Given the description of an element on the screen output the (x, y) to click on. 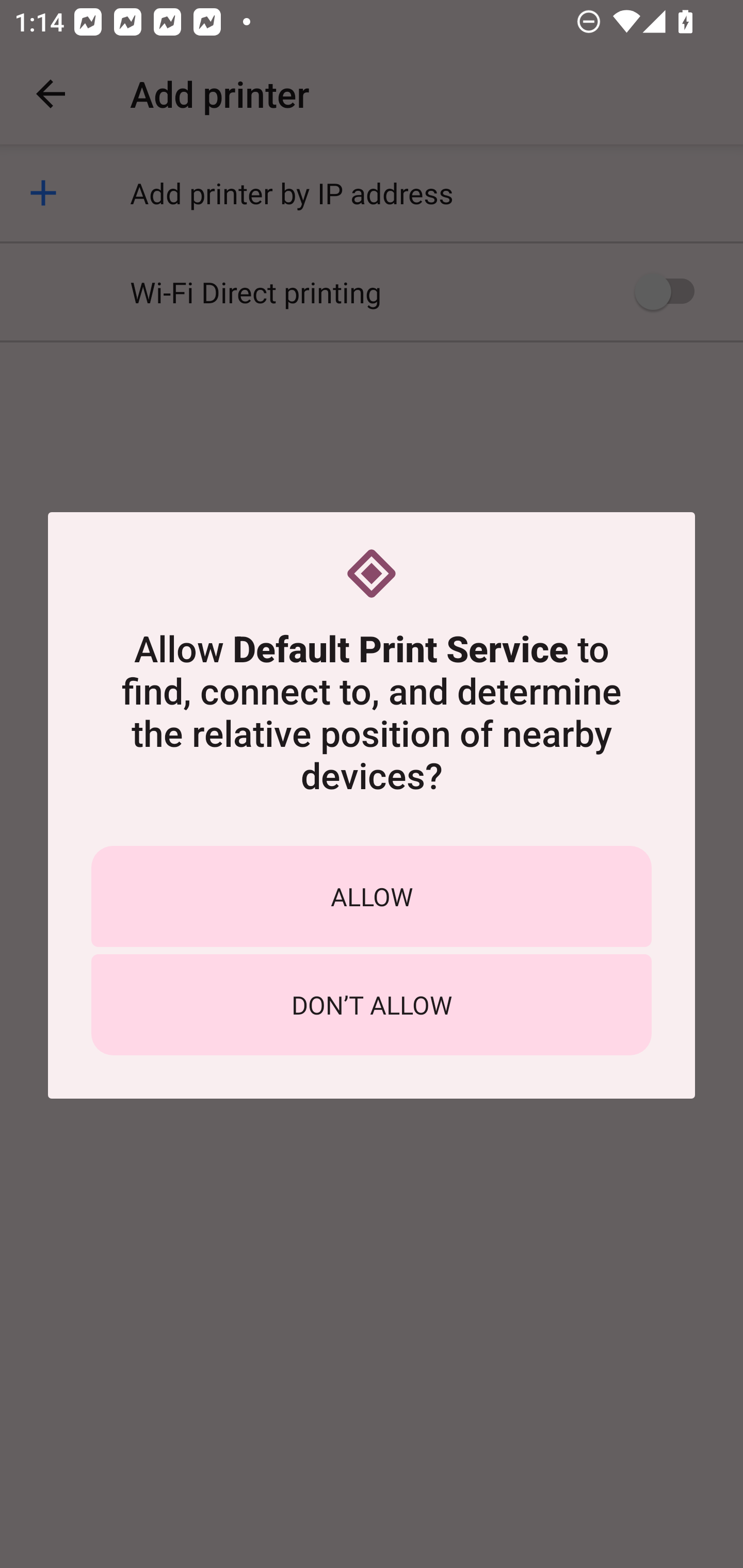
ALLOW (371, 896)
DON’T ALLOW (371, 1004)
